Given the description of an element on the screen output the (x, y) to click on. 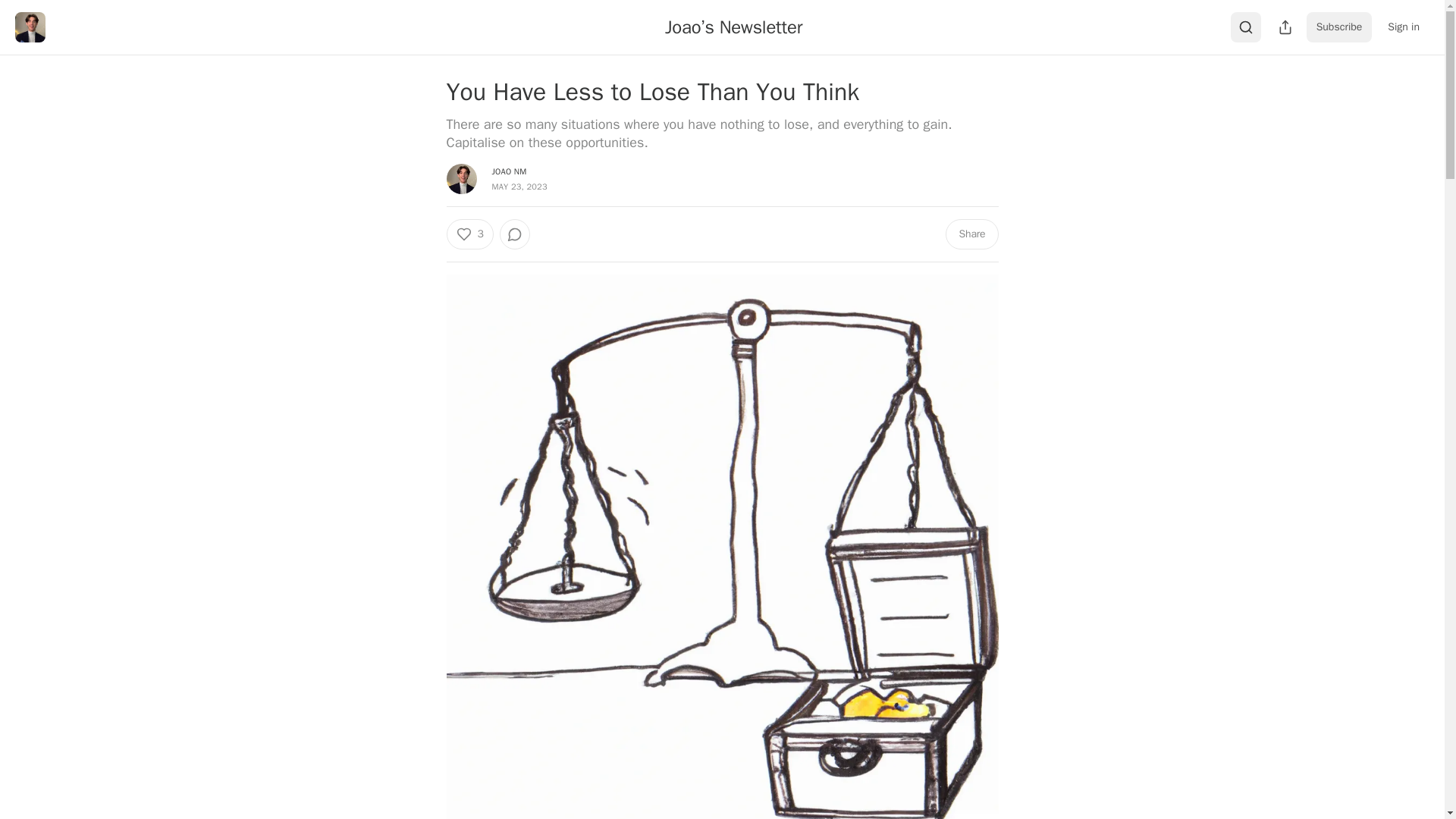
3 (469, 234)
Subscribe (1339, 27)
JOAO NM (508, 171)
Share (970, 234)
Sign in (1403, 27)
